Given the description of an element on the screen output the (x, y) to click on. 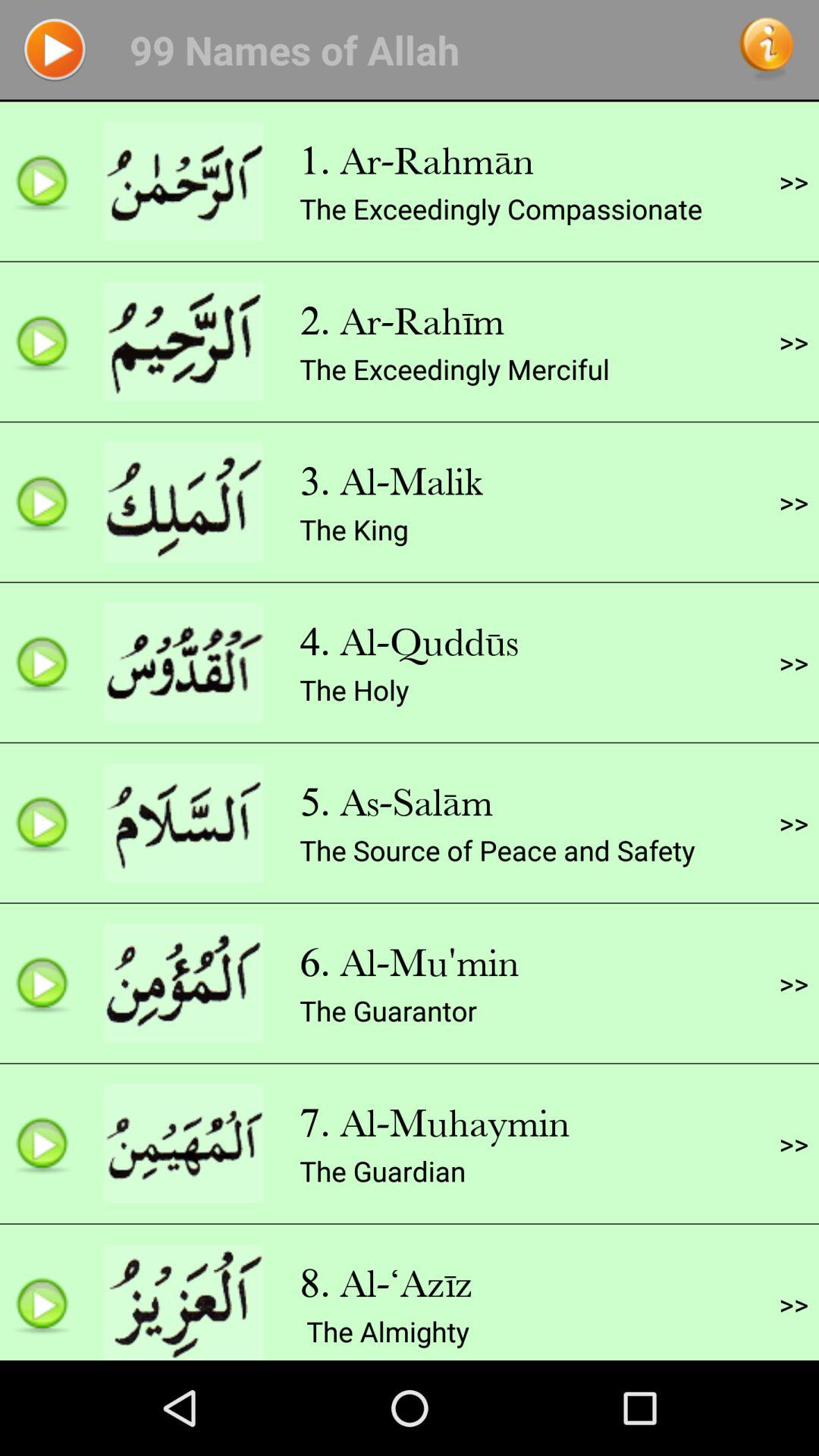
open icon to the right of 7. al-muhaymin (793, 1143)
